Given the description of an element on the screen output the (x, y) to click on. 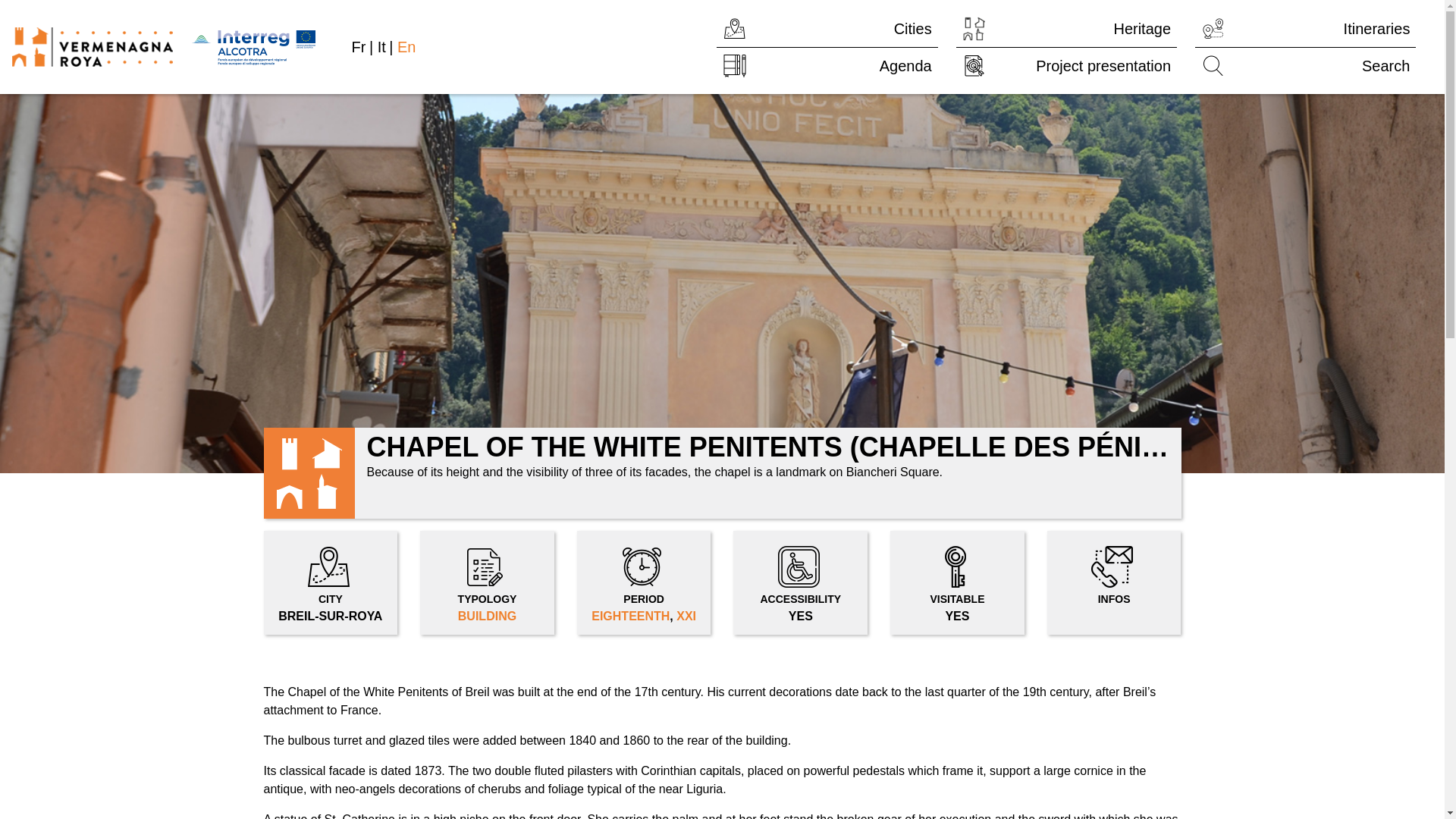
Itineraries (330, 582)
Cities (1305, 28)
Search (826, 28)
Project presentation (1305, 64)
XXI (1066, 64)
En (686, 615)
INFOS (405, 46)
Project presentation (1113, 582)
BUILDING (1066, 64)
